Given the description of an element on the screen output the (x, y) to click on. 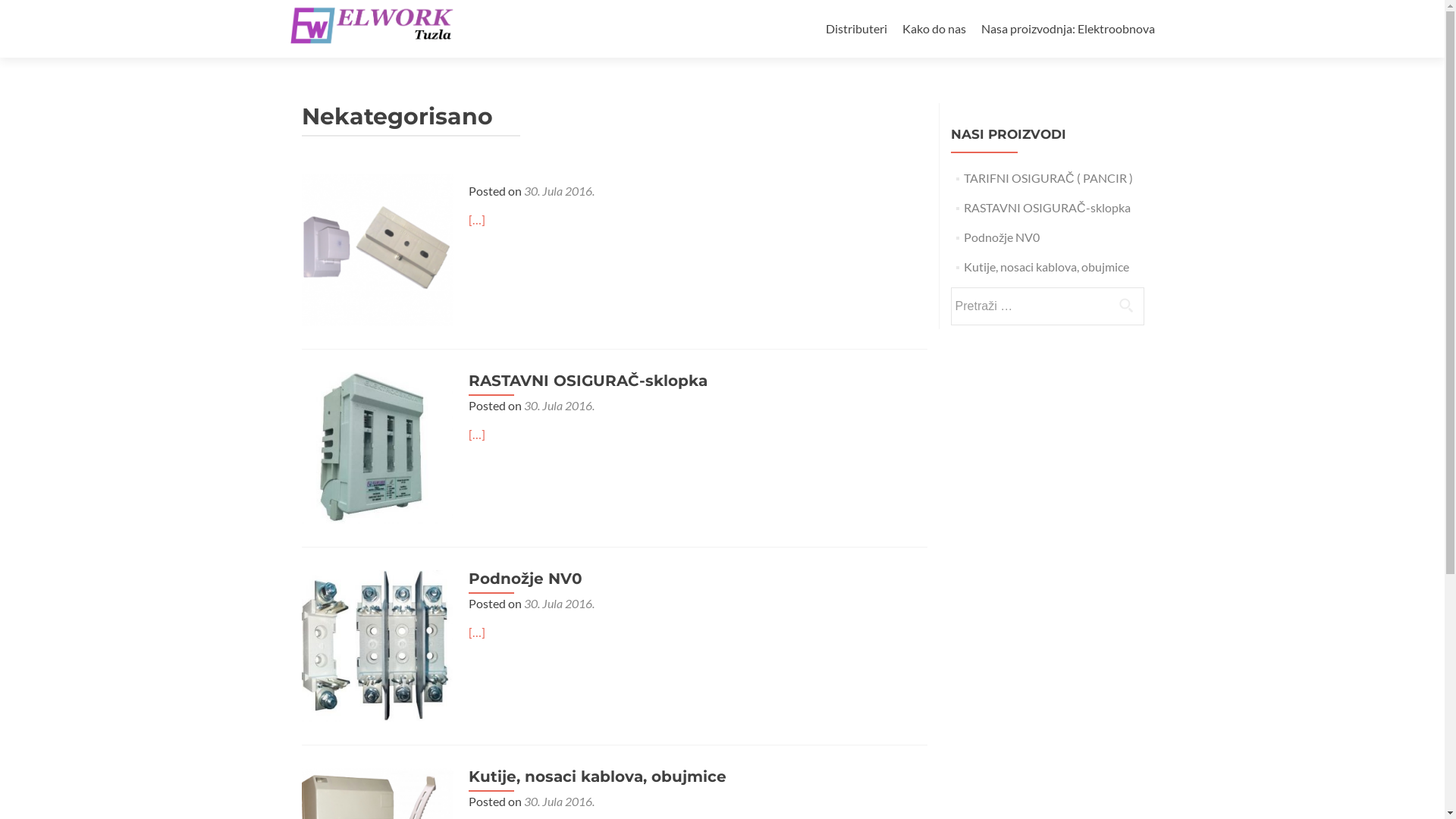
Kako do nas Element type: text (934, 28)
Distributeri Element type: text (855, 28)
Pretraga Element type: text (1125, 304)
Nasa proizvodnja: Elektroobnova Element type: text (1067, 28)
Kutije, nosaci kablova, obujmice Element type: text (1046, 266)
30. Jula 2016. Element type: text (558, 603)
30. Jula 2016. Element type: text (558, 405)
30. Jula 2016. Element type: text (558, 190)
30. Jula 2016. Element type: text (558, 800)
Kutije, nosaci kablova, obujmice Element type: text (597, 776)
